Given the description of an element on the screen output the (x, y) to click on. 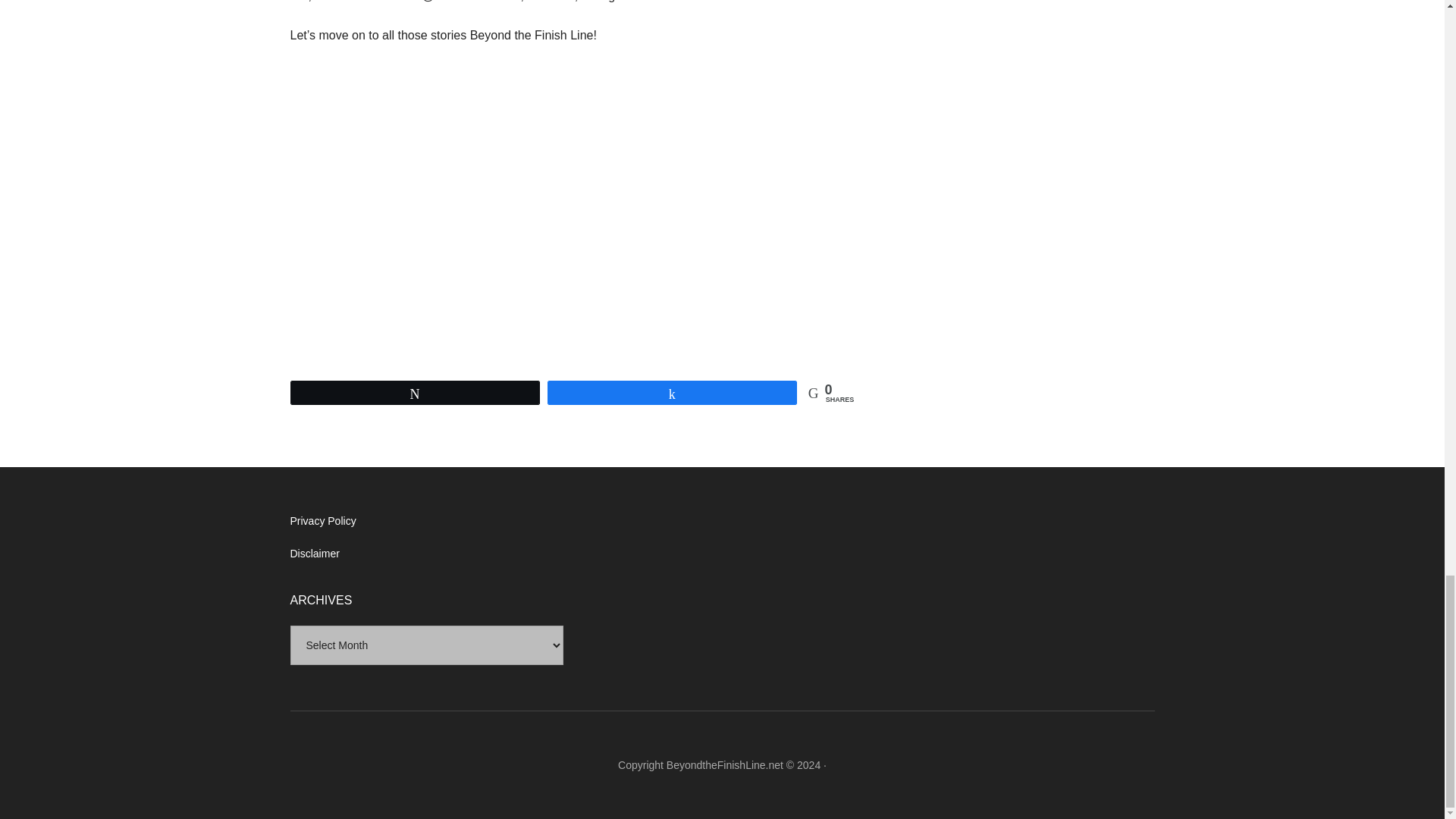
Privacy Policy (322, 521)
Disclaimer (314, 553)
